Given the description of an element on the screen output the (x, y) to click on. 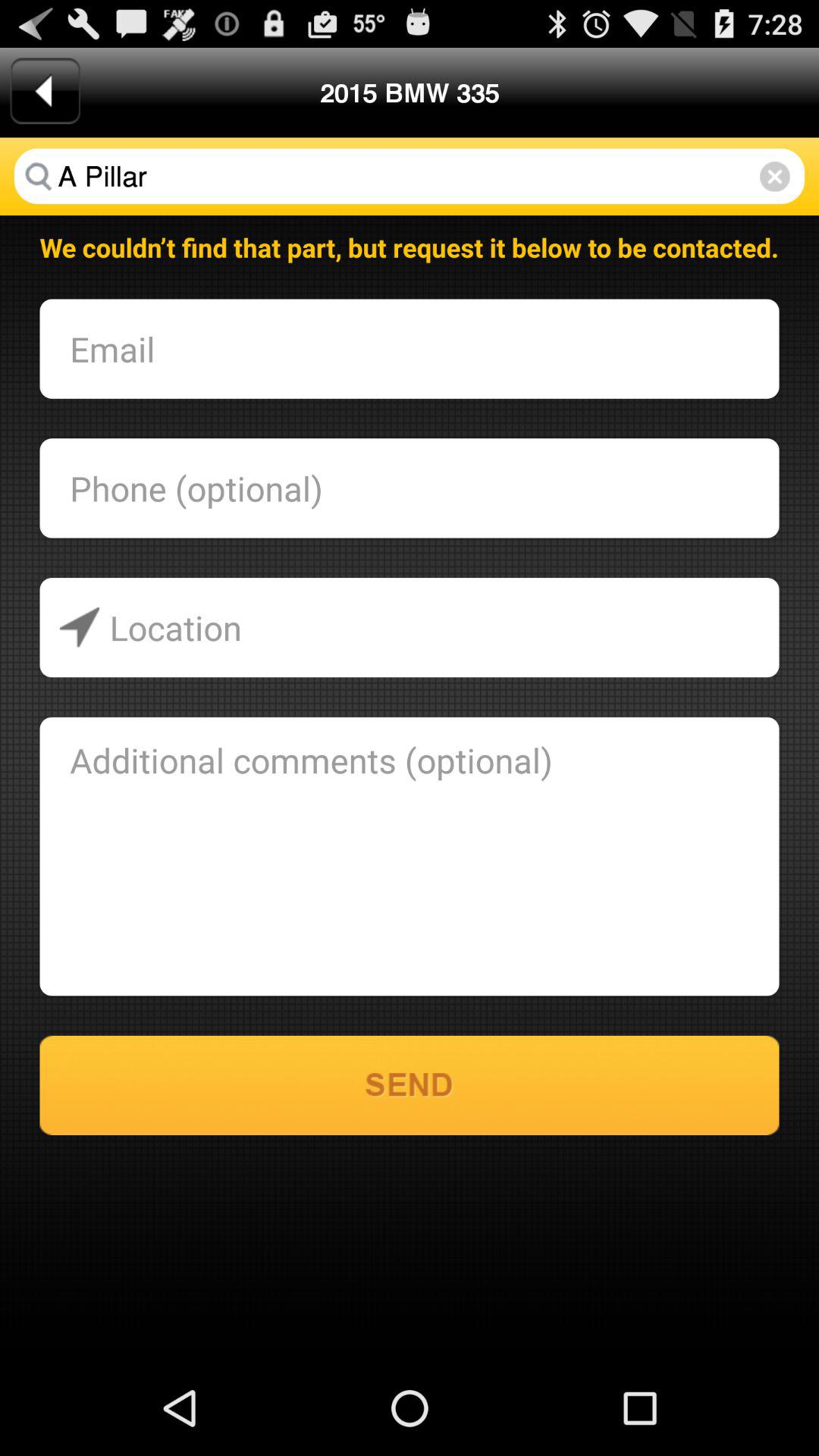
open the item next to the 2015 bmw 335 (774, 176)
